Given the description of an element on the screen output the (x, y) to click on. 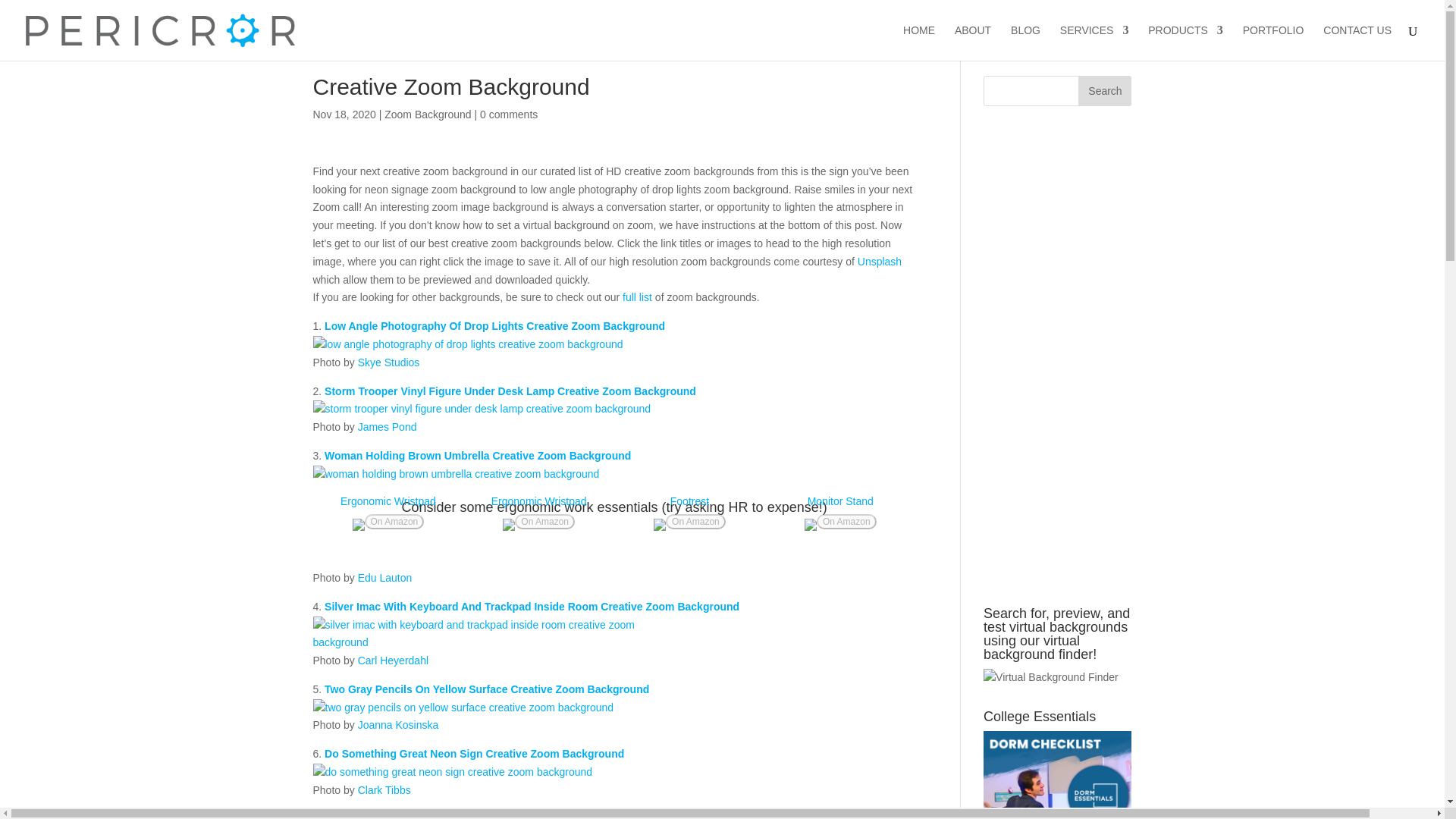
ABOUT (973, 42)
HOME (918, 42)
full list (637, 297)
CONTACT US (1357, 42)
0 comments (508, 114)
Skye Studios (389, 362)
Zoom Background (427, 114)
Search (1104, 91)
SERVICES (1094, 42)
PRODUCTS (1185, 42)
PORTFOLIO (1273, 42)
Unsplash (879, 261)
